Given the description of an element on the screen output the (x, y) to click on. 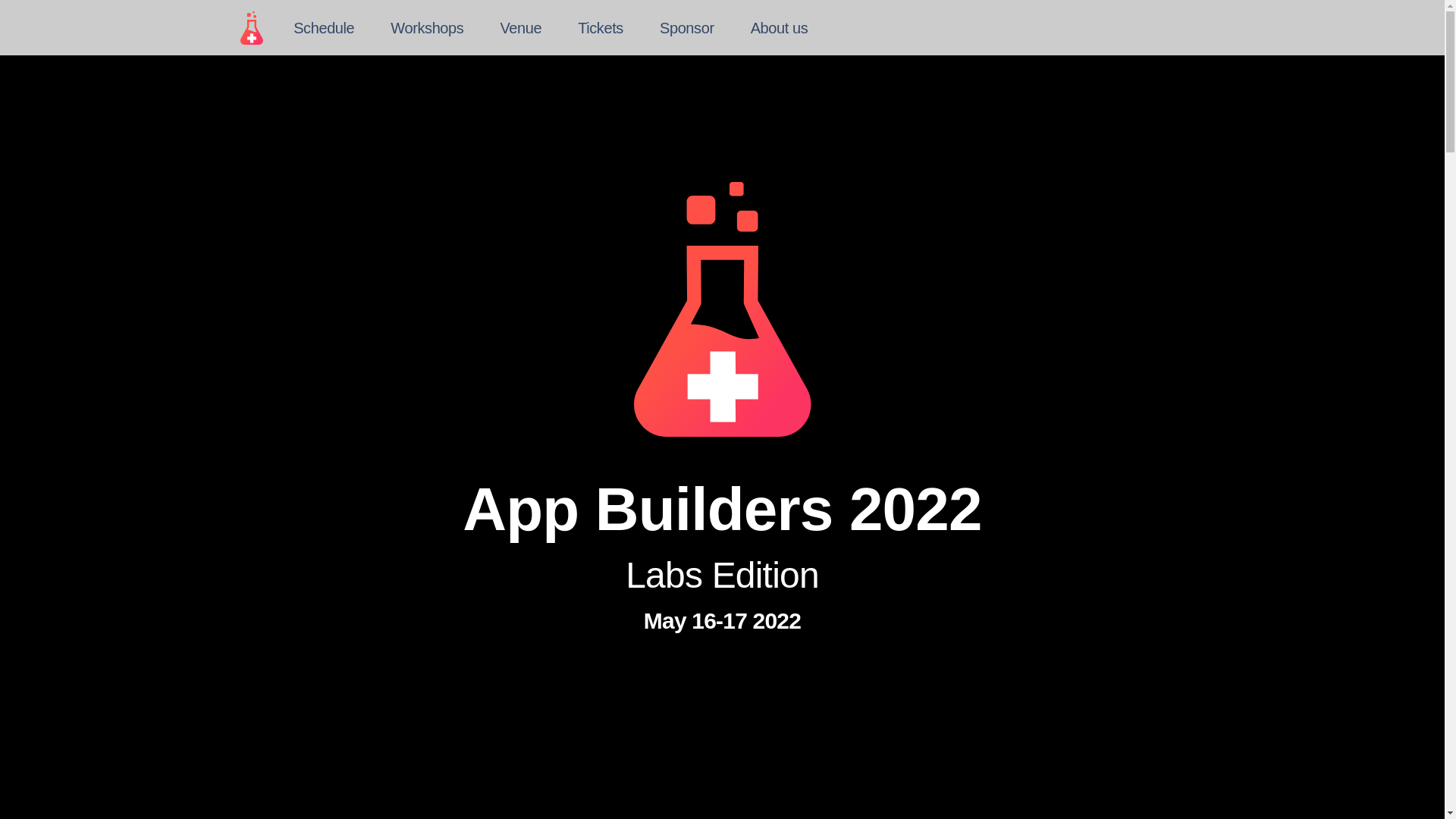
Tickets Element type: text (600, 27)
Sponsor Element type: text (686, 27)
About us Element type: text (779, 27)
Venue Element type: text (520, 27)
Workshops Element type: text (426, 27)
Schedule Element type: text (323, 27)
